Given the description of an element on the screen output the (x, y) to click on. 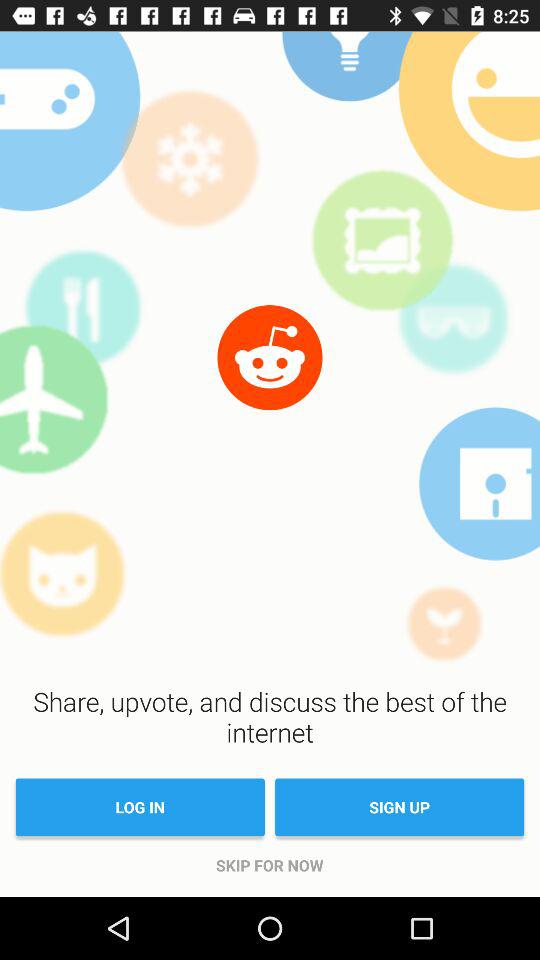
tap item below the log in item (269, 865)
